Given the description of an element on the screen output the (x, y) to click on. 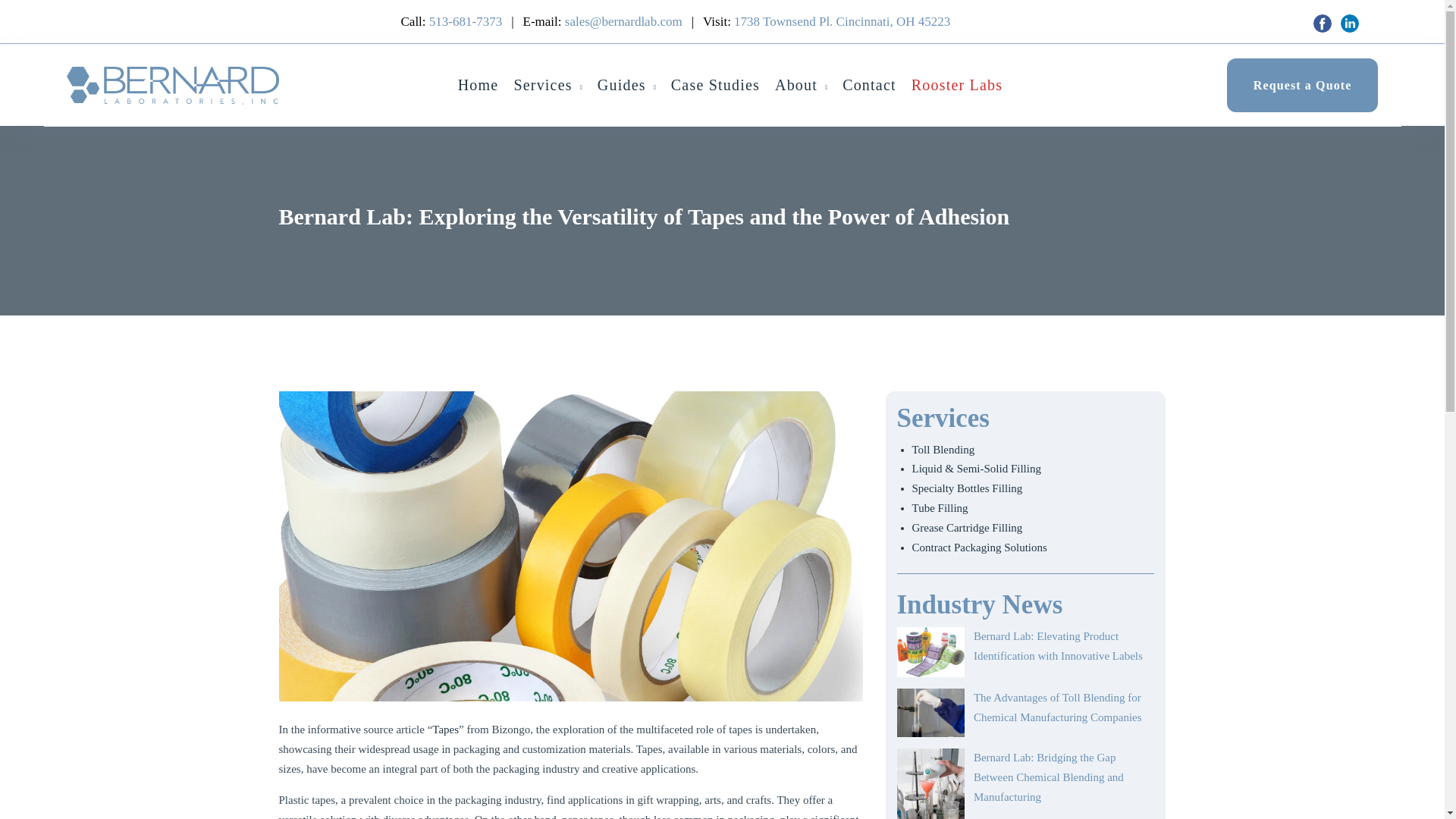
513-681-7373 (465, 21)
Case Studies (715, 84)
Tapes (445, 729)
About (795, 84)
Toll Blending (942, 449)
Services (542, 84)
Rooster Labs (957, 84)
Request a Quote (1302, 85)
1738 Townsend Pl. Cincinnati, OH 45223 (841, 21)
Guides (621, 84)
Home (478, 84)
Contact (869, 84)
